Given the description of an element on the screen output the (x, y) to click on. 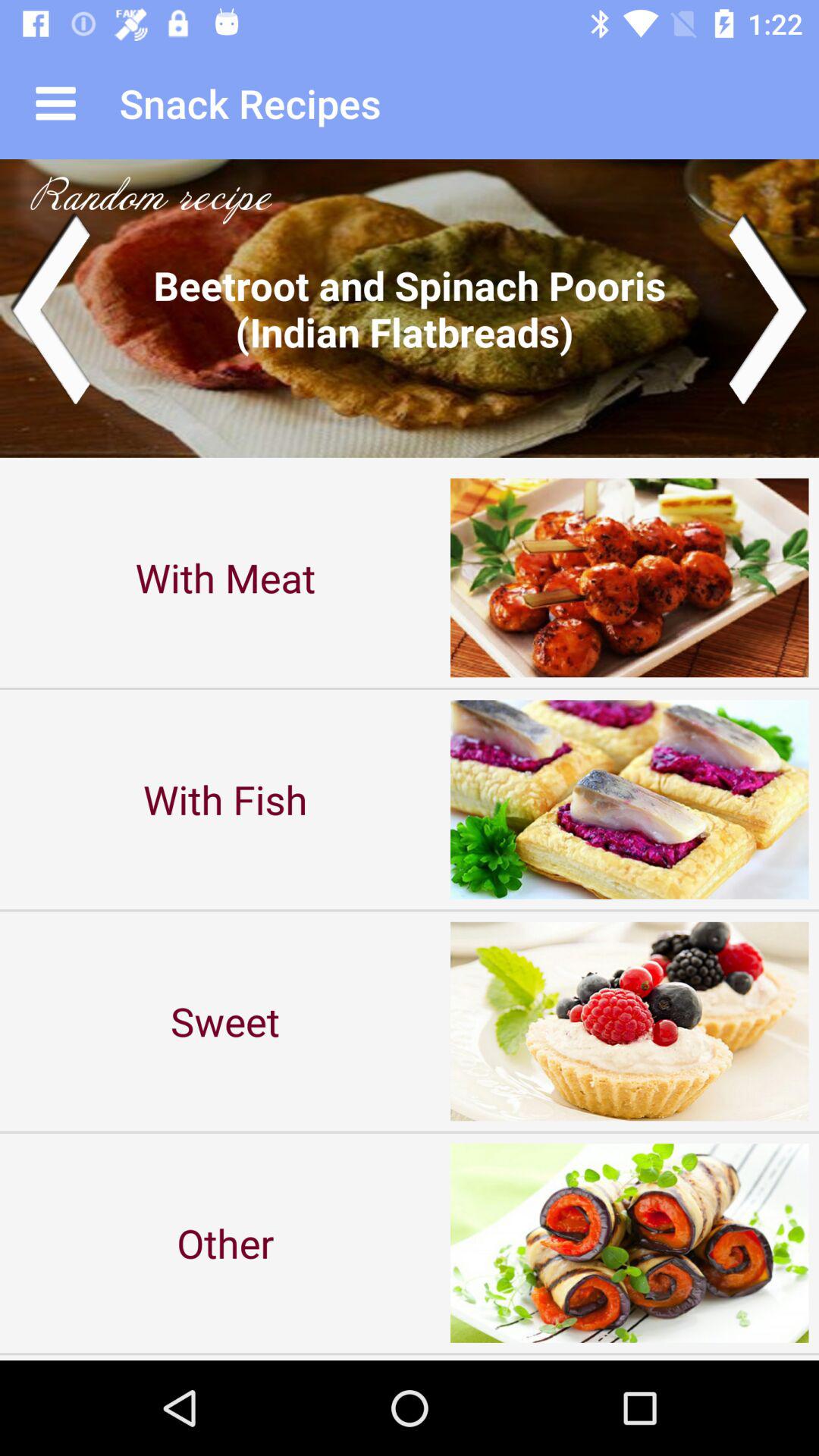
swipe to the with meat (225, 577)
